Given the description of an element on the screen output the (x, y) to click on. 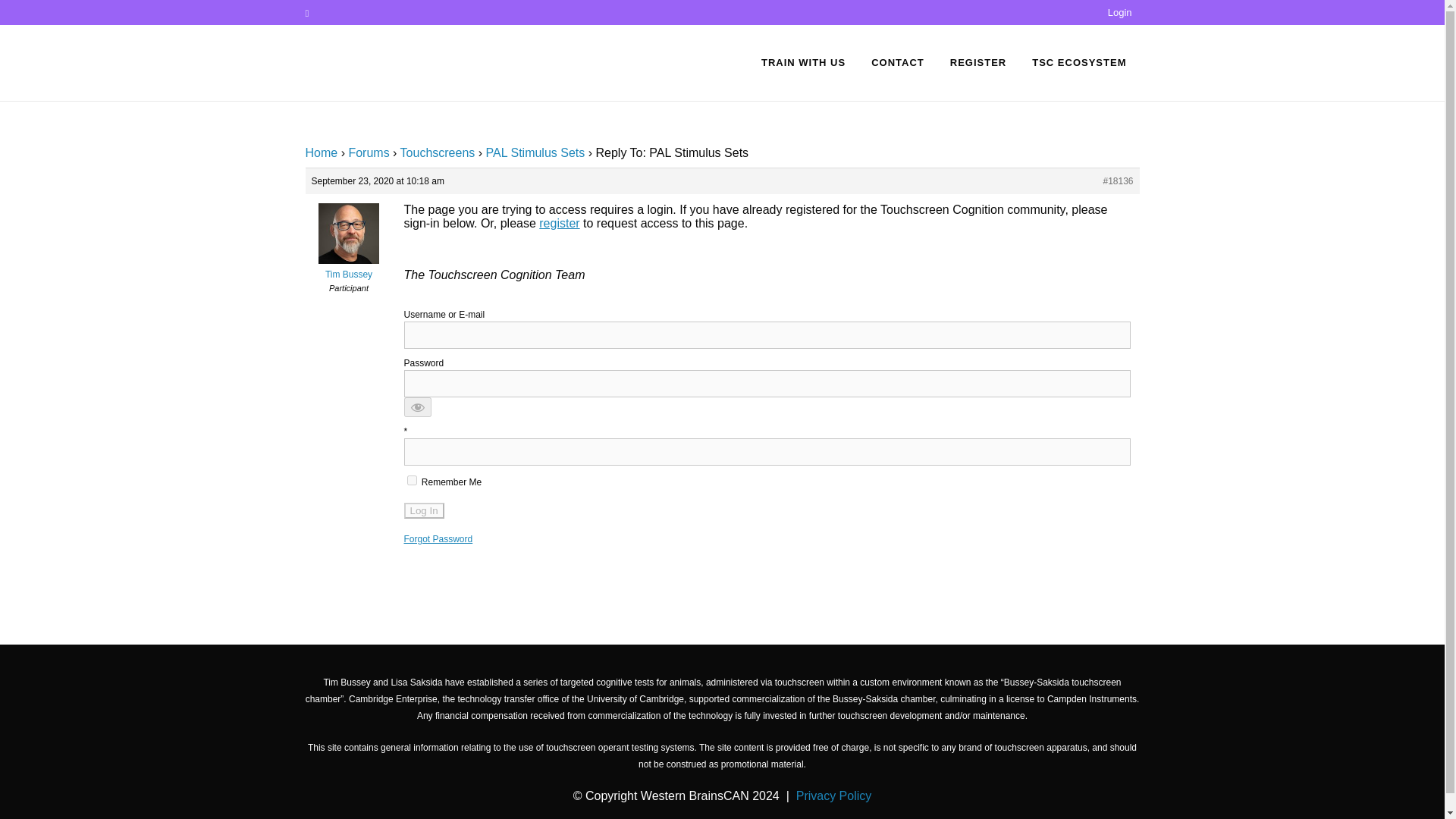
Forums (367, 152)
Log In (423, 510)
Login (1120, 12)
Forgot Password (437, 538)
Privacy Policy (834, 795)
PAL Stimulus Sets (535, 152)
forever (411, 480)
TRAIN WITH US (803, 62)
REGISTER (978, 62)
View Tim Bussey's profile (347, 268)
CONTACT (898, 62)
Tim Bussey (347, 268)
register (558, 223)
TSC ECOSYSTEM (1078, 62)
Home (320, 152)
